Given the description of an element on the screen output the (x, y) to click on. 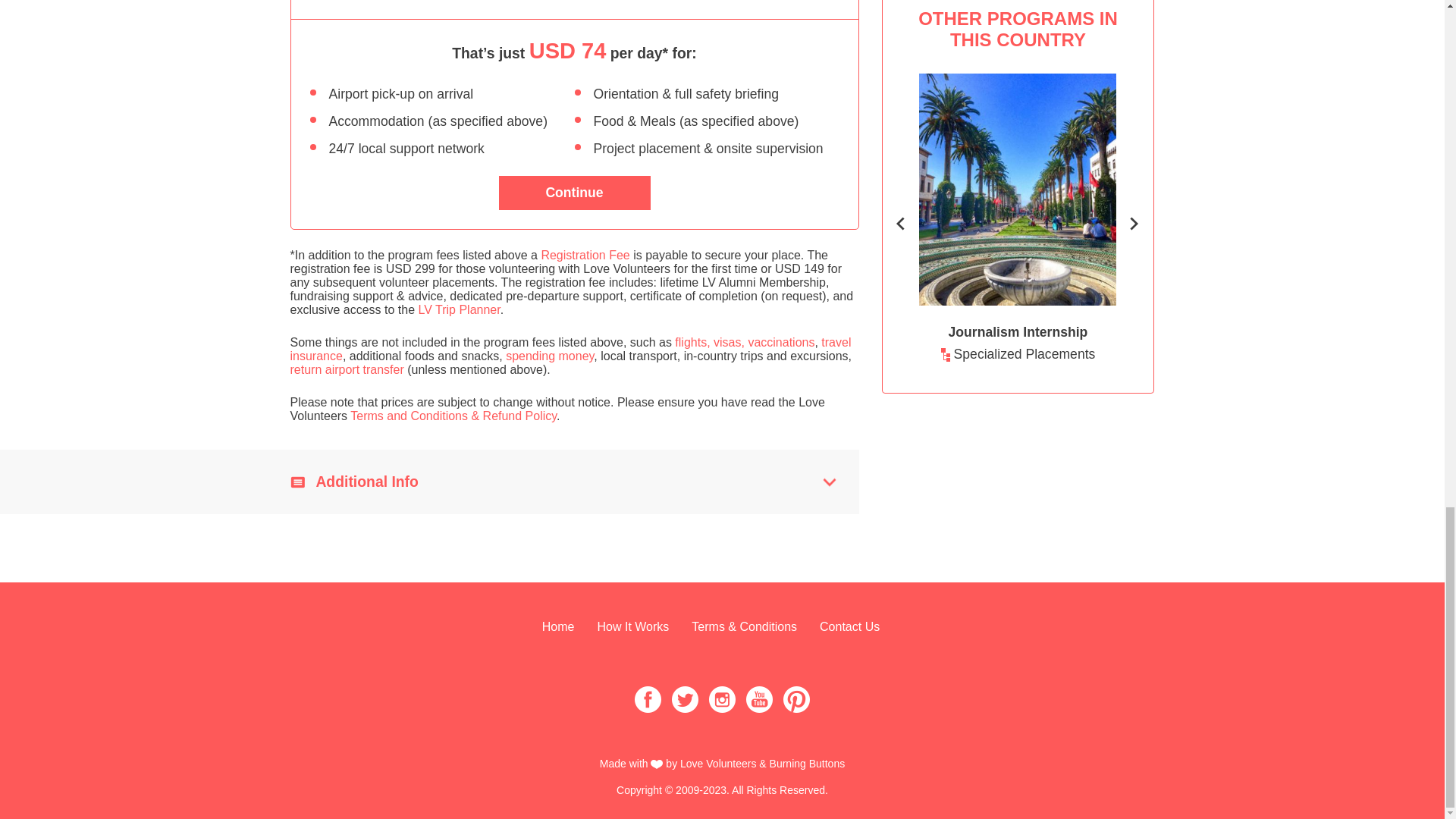
flights, visas, vaccinations (744, 341)
Continue (574, 192)
spending money (549, 355)
Registration Fee (584, 254)
travel insurance (569, 348)
return airport transfer (346, 369)
LV Trip Planner (458, 309)
